Given the description of an element on the screen output the (x, y) to click on. 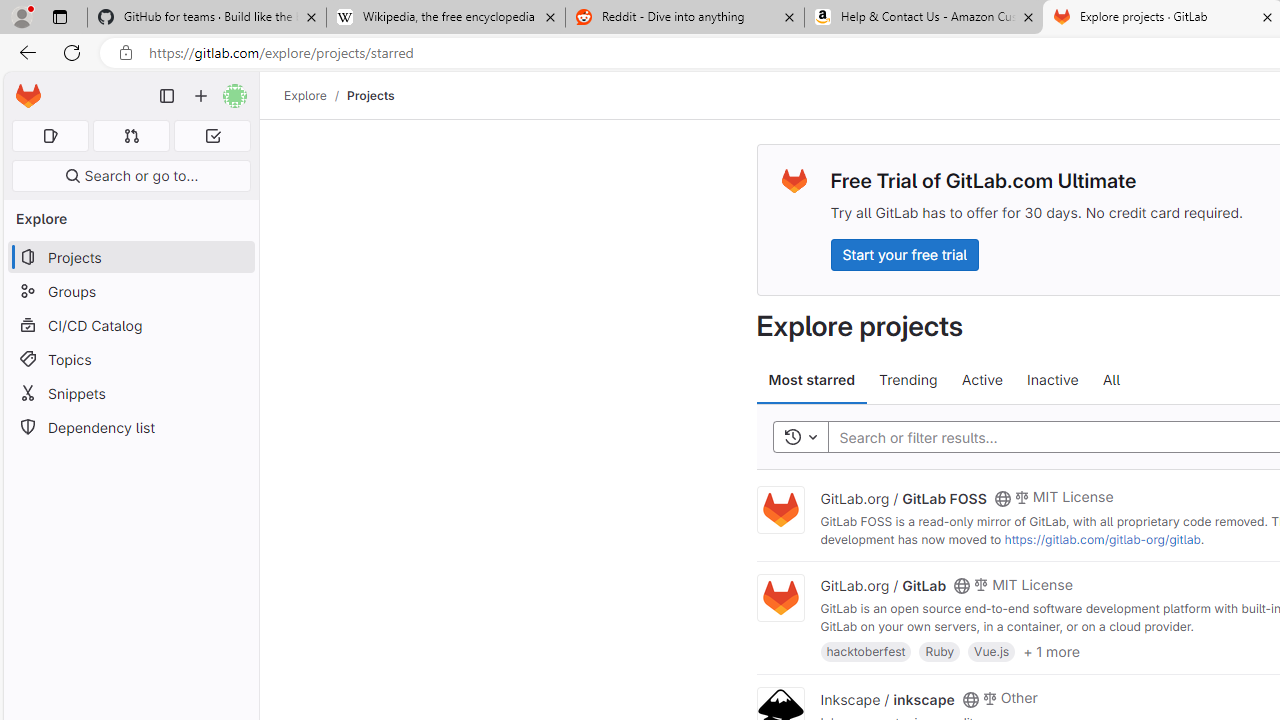
Create new... (201, 96)
Inactive (1052, 379)
Groups (130, 291)
Groups (130, 291)
GitLab.org / GitLab FOSS (903, 497)
Help & Contact Us - Amazon Customer Service (924, 17)
Homepage (27, 96)
All (1111, 379)
+ 1 more (1051, 650)
CI/CD Catalog (130, 325)
Most starred (811, 379)
Inkscape / inkscape (887, 698)
Ruby (940, 650)
